Given the description of an element on the screen output the (x, y) to click on. 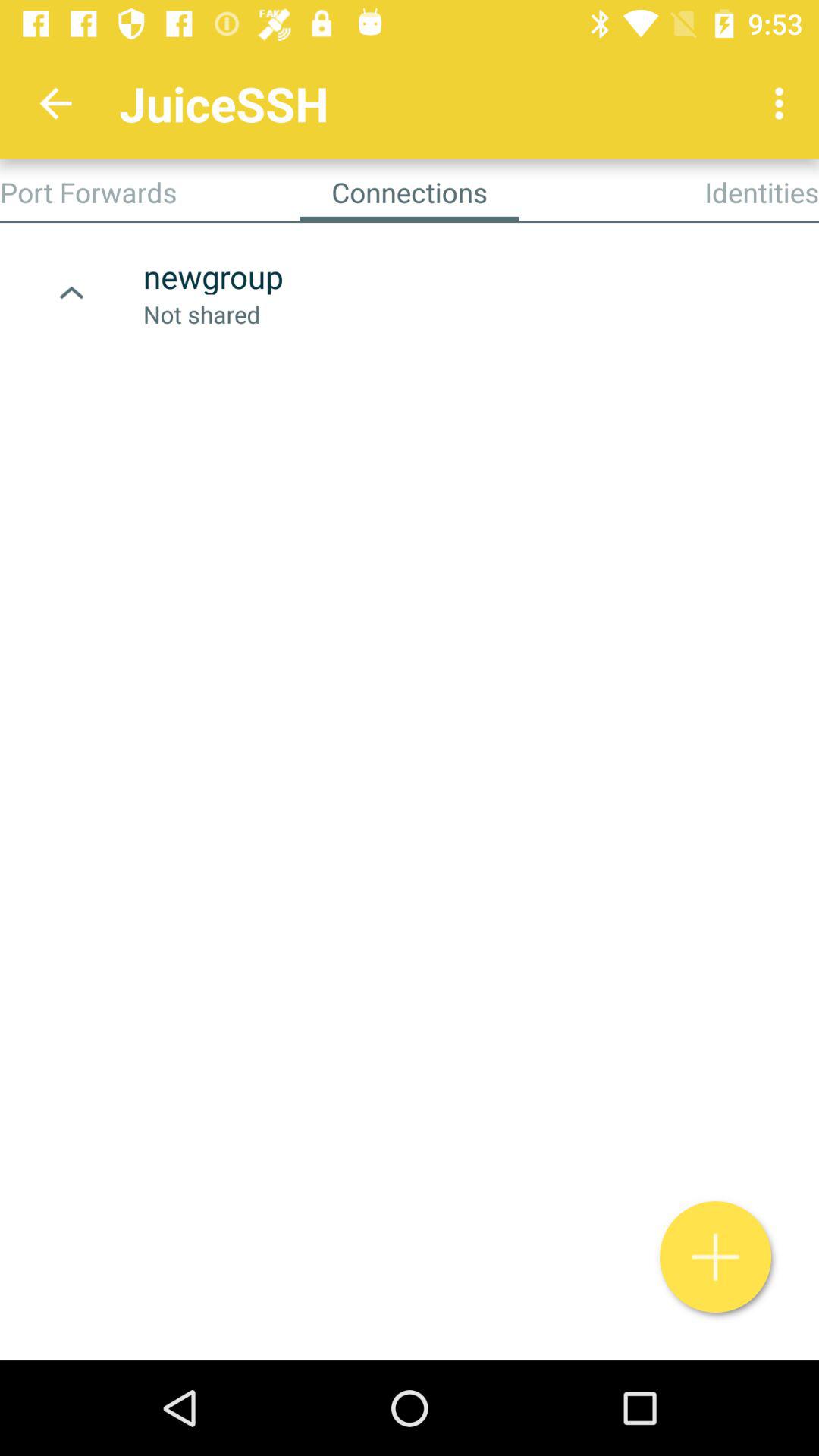
jump until identities (761, 192)
